Given the description of an element on the screen output the (x, y) to click on. 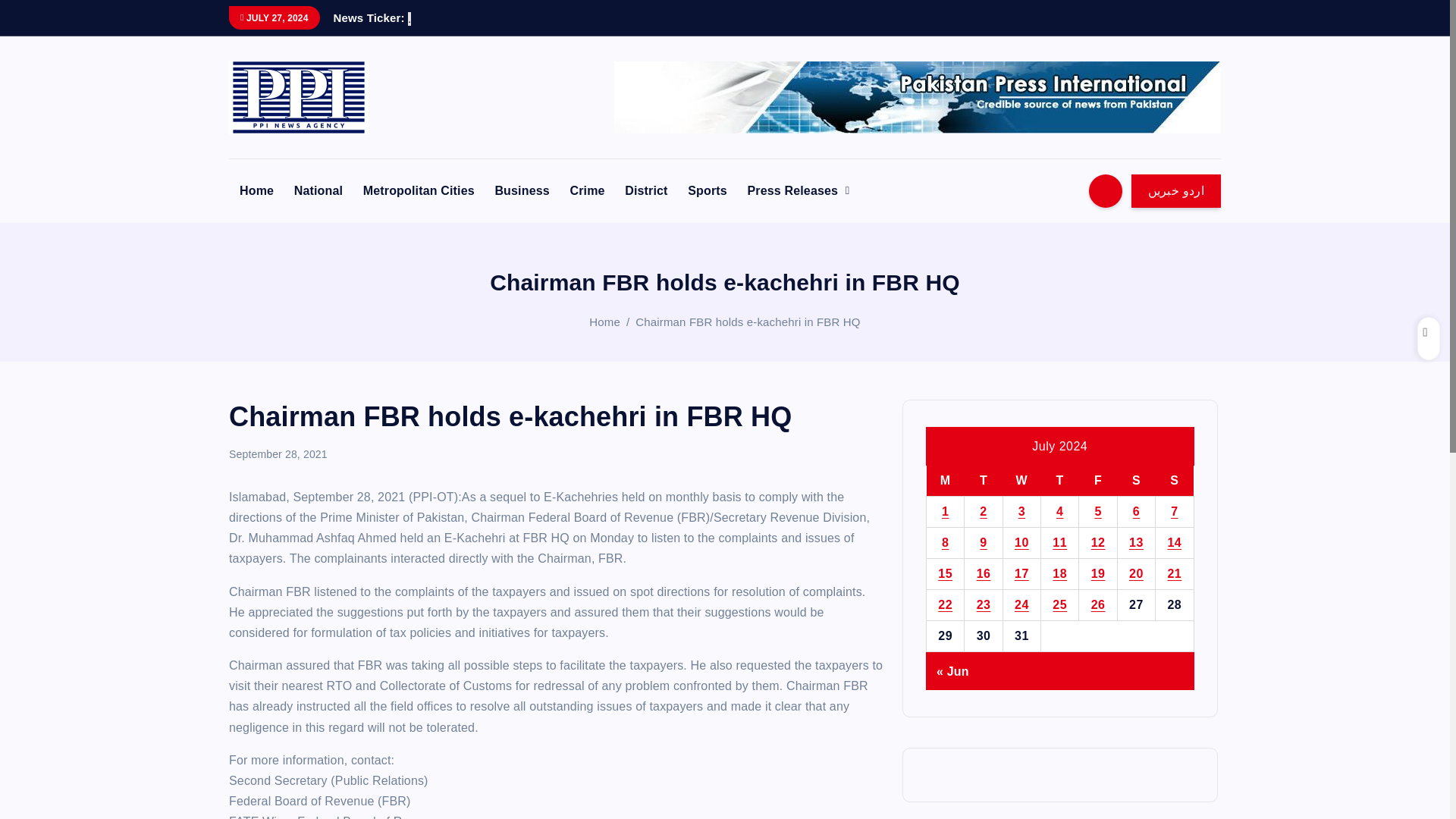
National (318, 190)
Business (521, 190)
Home (604, 321)
National (318, 190)
Press Releases (798, 190)
Sports (707, 190)
Metropolitan Cities (418, 190)
Sports (707, 190)
Home (255, 190)
Business (521, 190)
Metropolitan Cities (418, 190)
Crime (586, 190)
Crime (586, 190)
District (646, 190)
Home (255, 190)
